Given the description of an element on the screen output the (x, y) to click on. 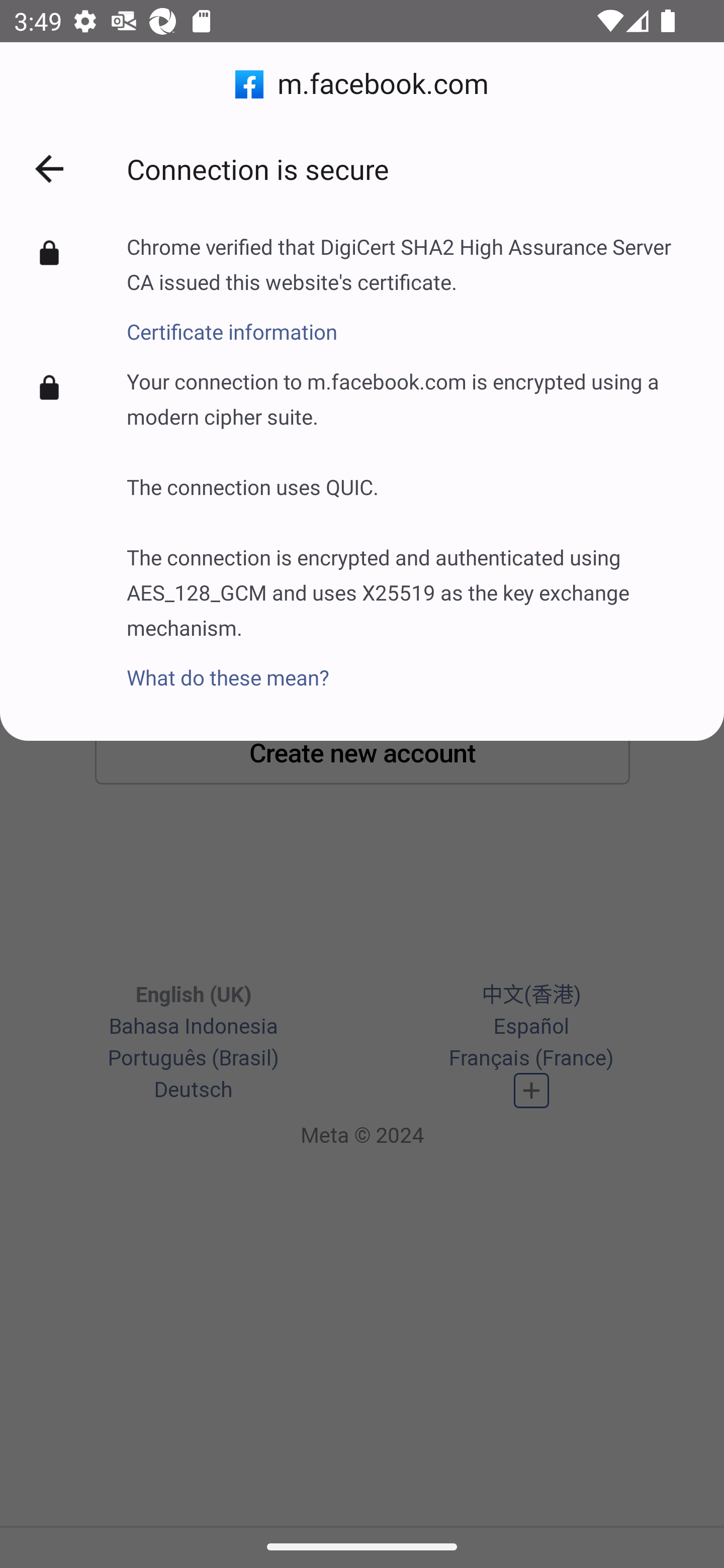
m.facebook.com (362, 84)
Back (49, 169)
Certificate information (410, 321)
What do these mean? (410, 666)
